Given the description of an element on the screen output the (x, y) to click on. 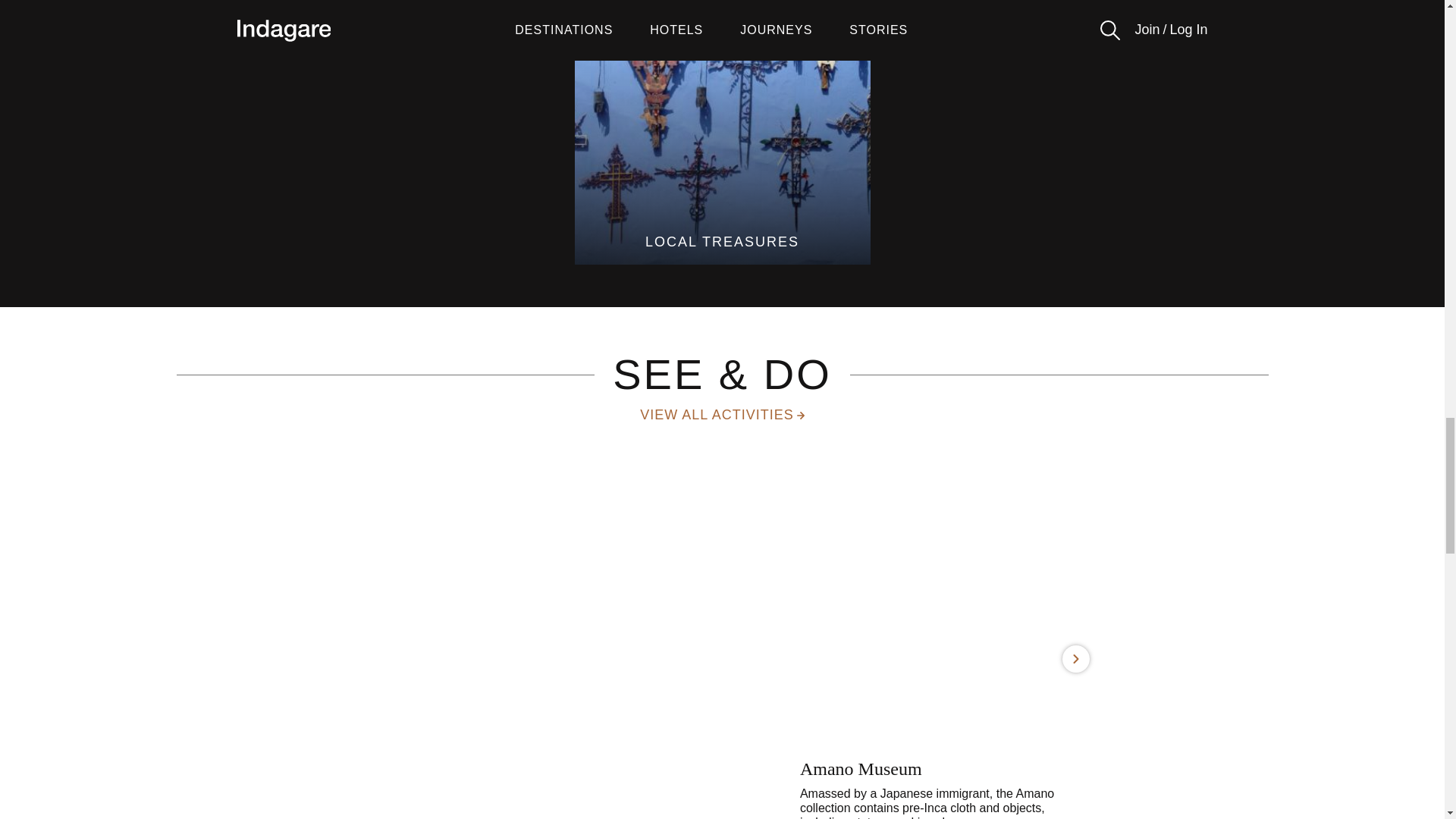
LOCAL TREASURES (722, 132)
VIEW ALL ACTIVITIES (721, 415)
